Given the description of an element on the screen output the (x, y) to click on. 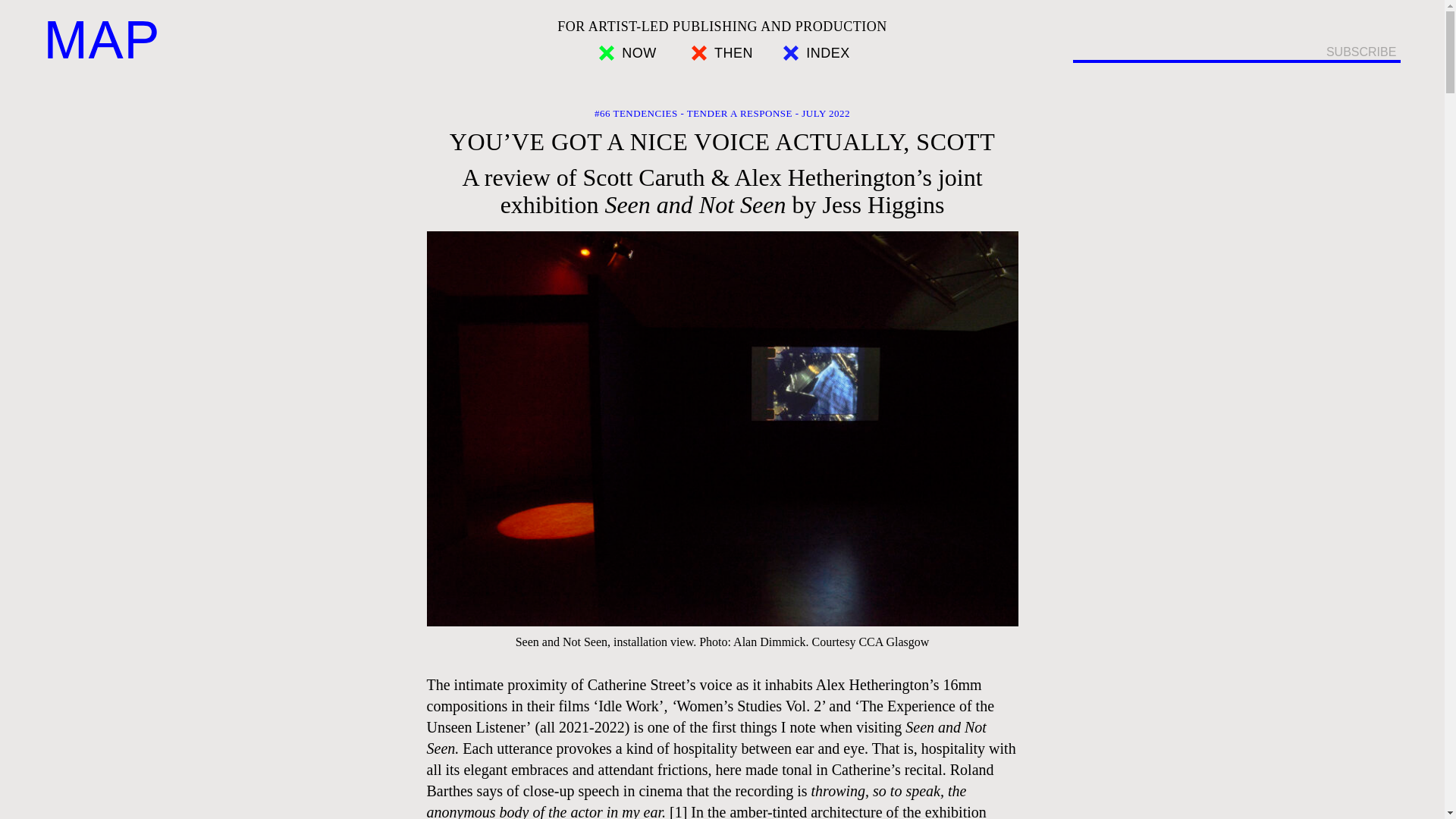
FOR ARTIST-LED PUBLISHING AND PRODUCTION (721, 26)
THEN (721, 52)
INDEX (816, 52)
NOW (627, 52)
SUBSCRIBE (1361, 52)
